Given the description of an element on the screen output the (x, y) to click on. 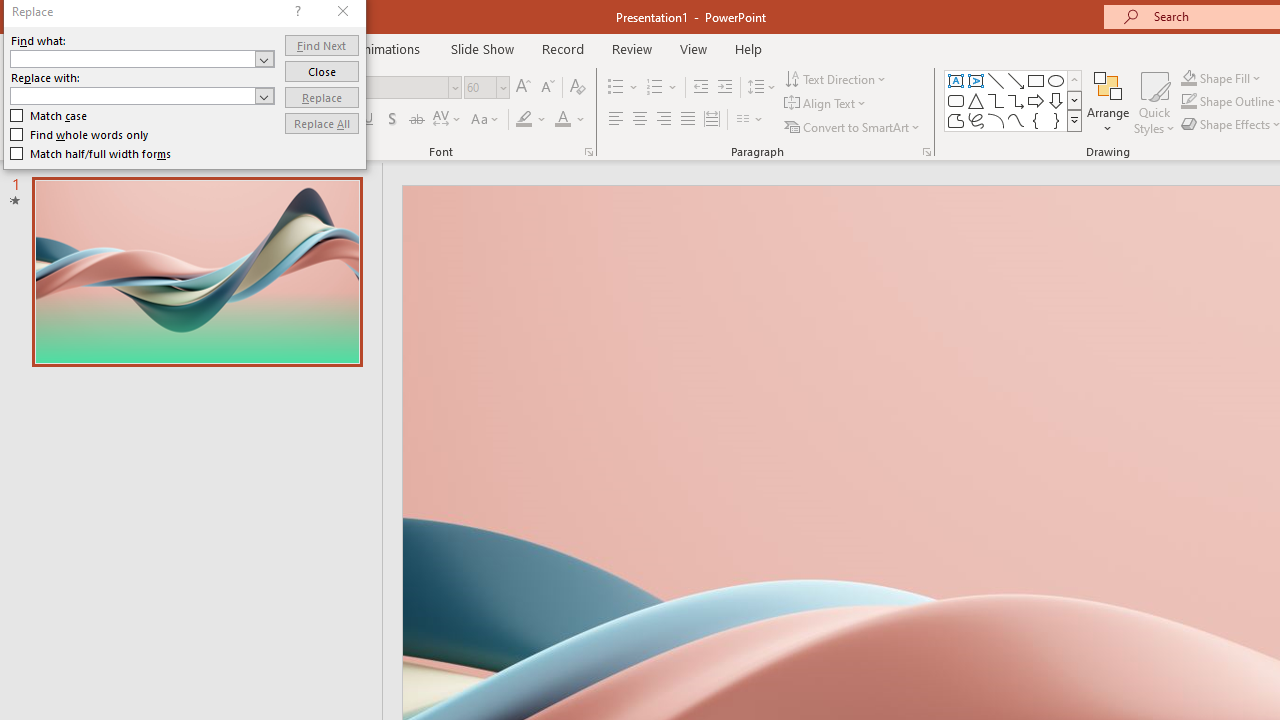
Find what (142, 58)
